Given the description of an element on the screen output the (x, y) to click on. 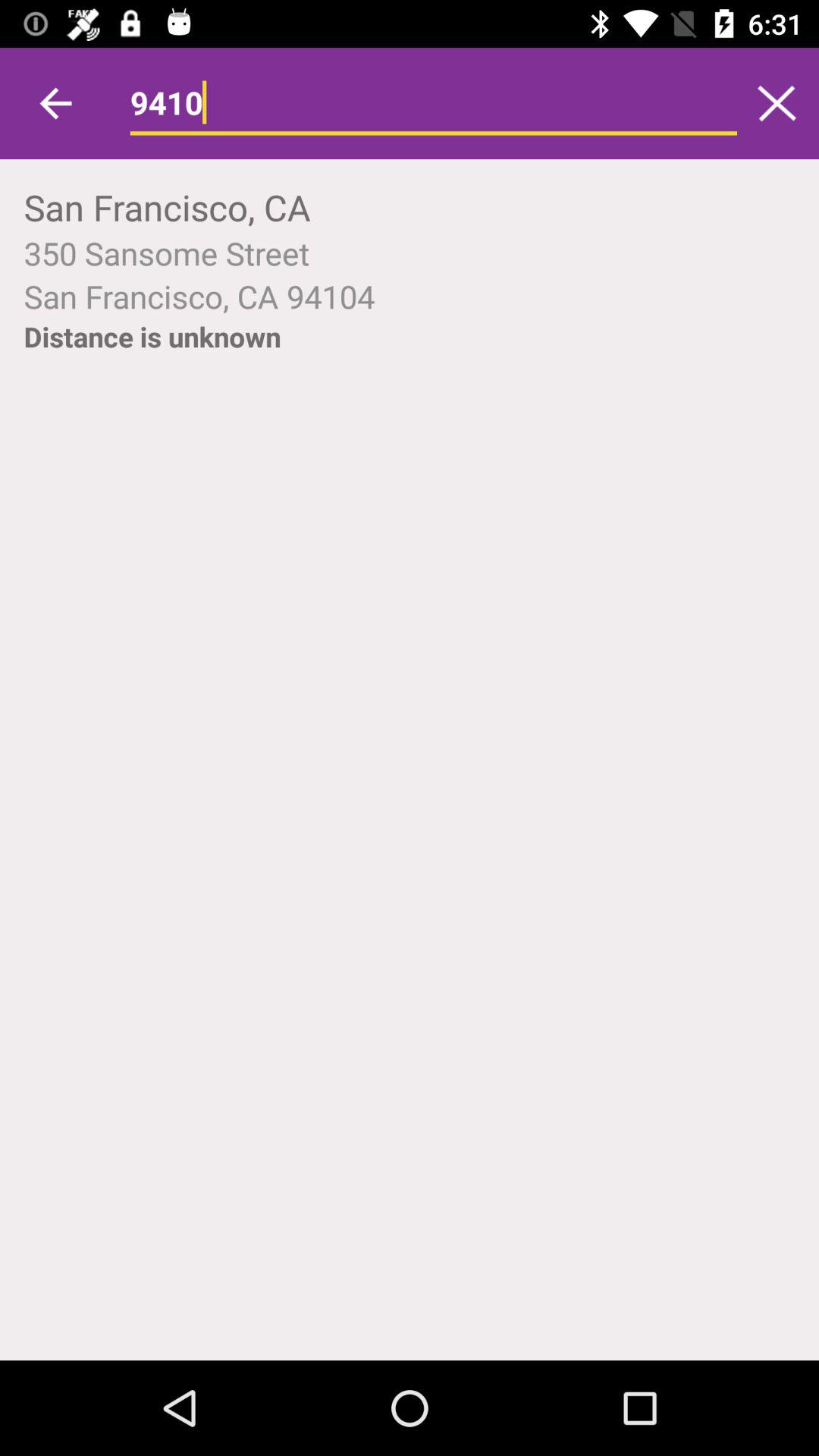
clear search bar (776, 103)
